Given the description of an element on the screen output the (x, y) to click on. 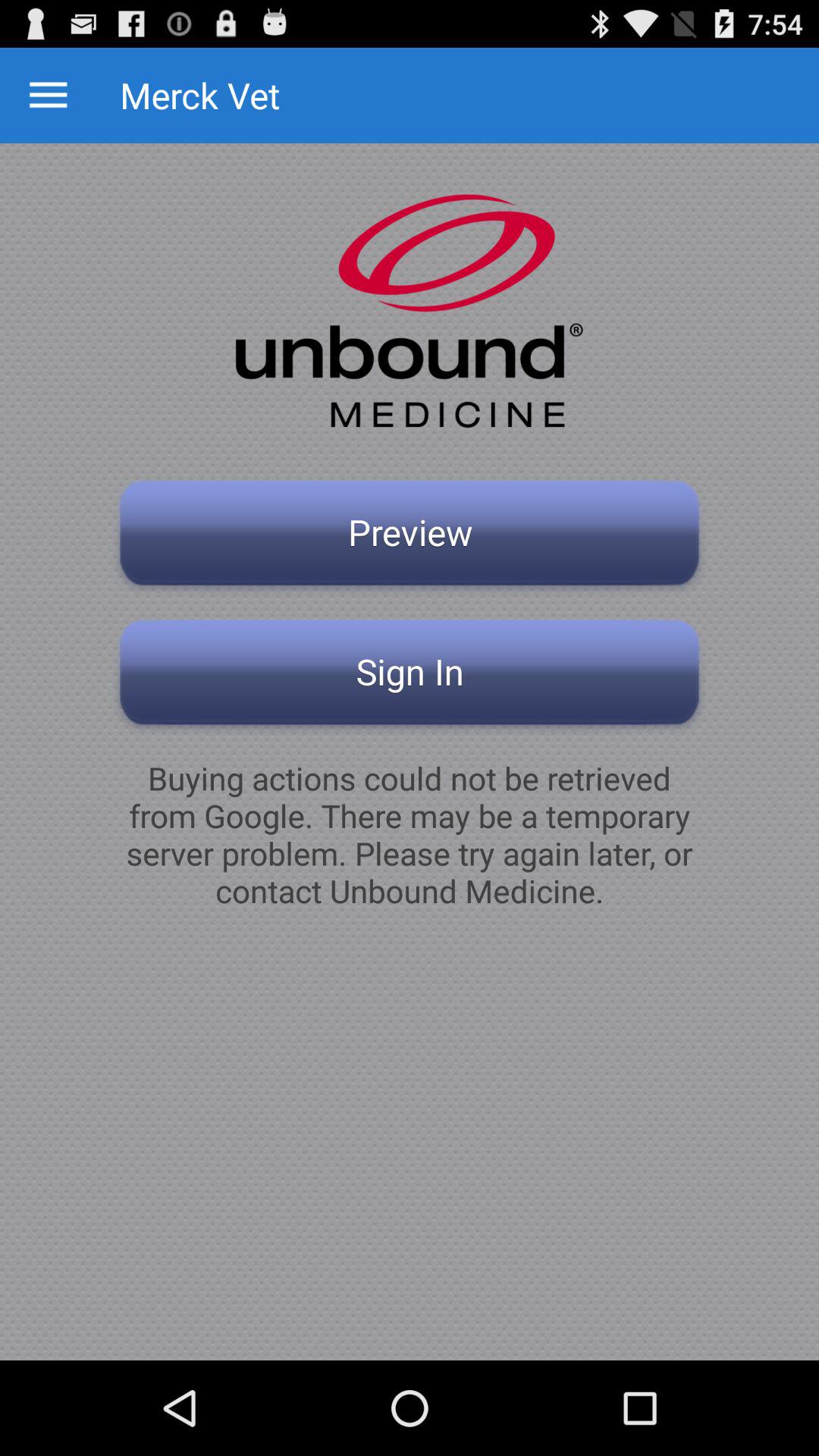
choose sign in (409, 676)
